Given the description of an element on the screen output the (x, y) to click on. 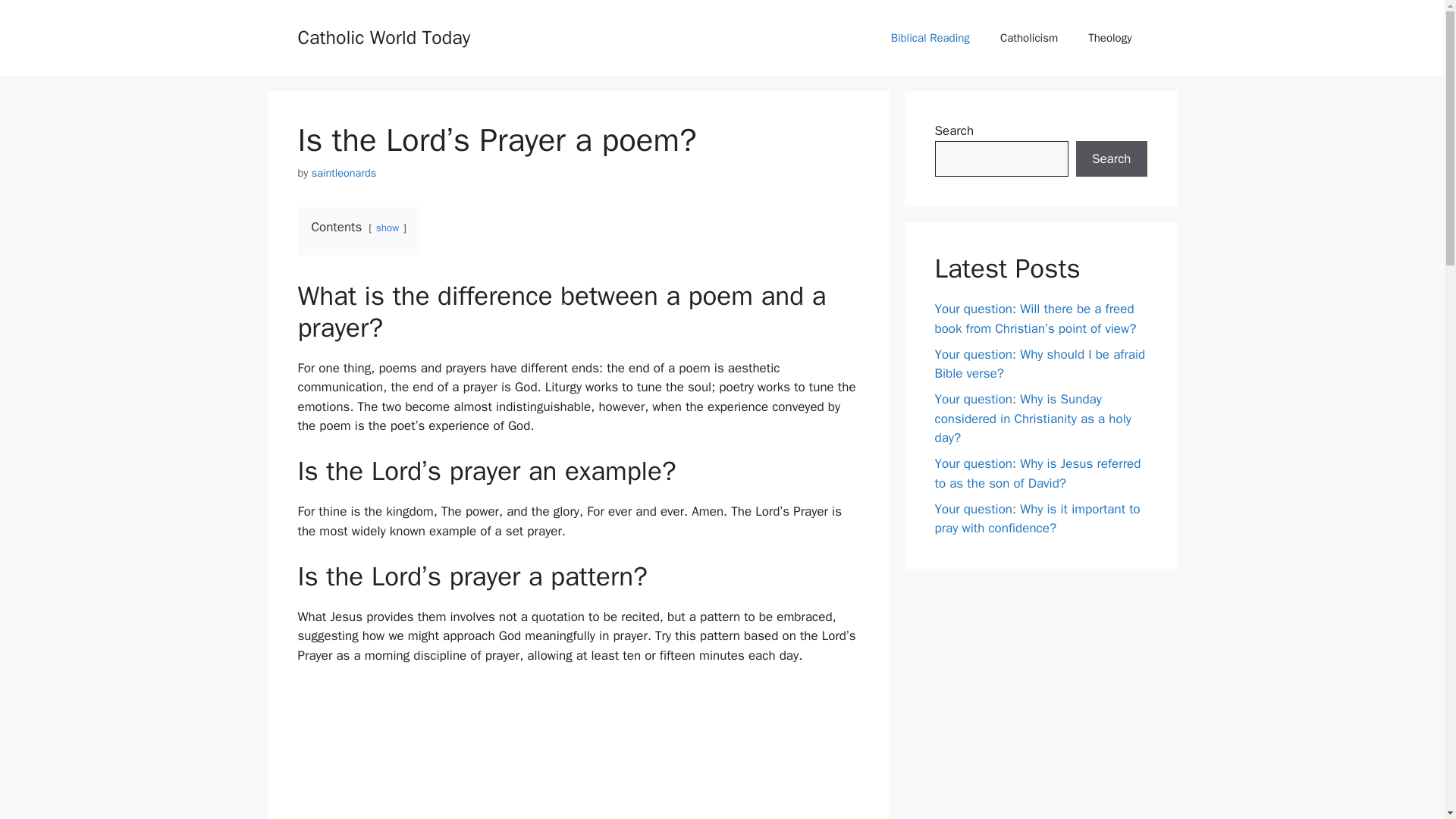
Theology (1110, 37)
Your question: Why is it important to pray with confidence? (1037, 518)
show (386, 227)
View all posts by saintleonards (344, 172)
Your question: Why is Jesus referred to as the son of David? (1037, 473)
Search (1111, 158)
Catholic World Today (383, 37)
Your question: Why should I be afraid Bible verse? (1039, 363)
Biblical Reading (930, 37)
Catholicism (1029, 37)
saintleonards (344, 172)
